Given the description of an element on the screen output the (x, y) to click on. 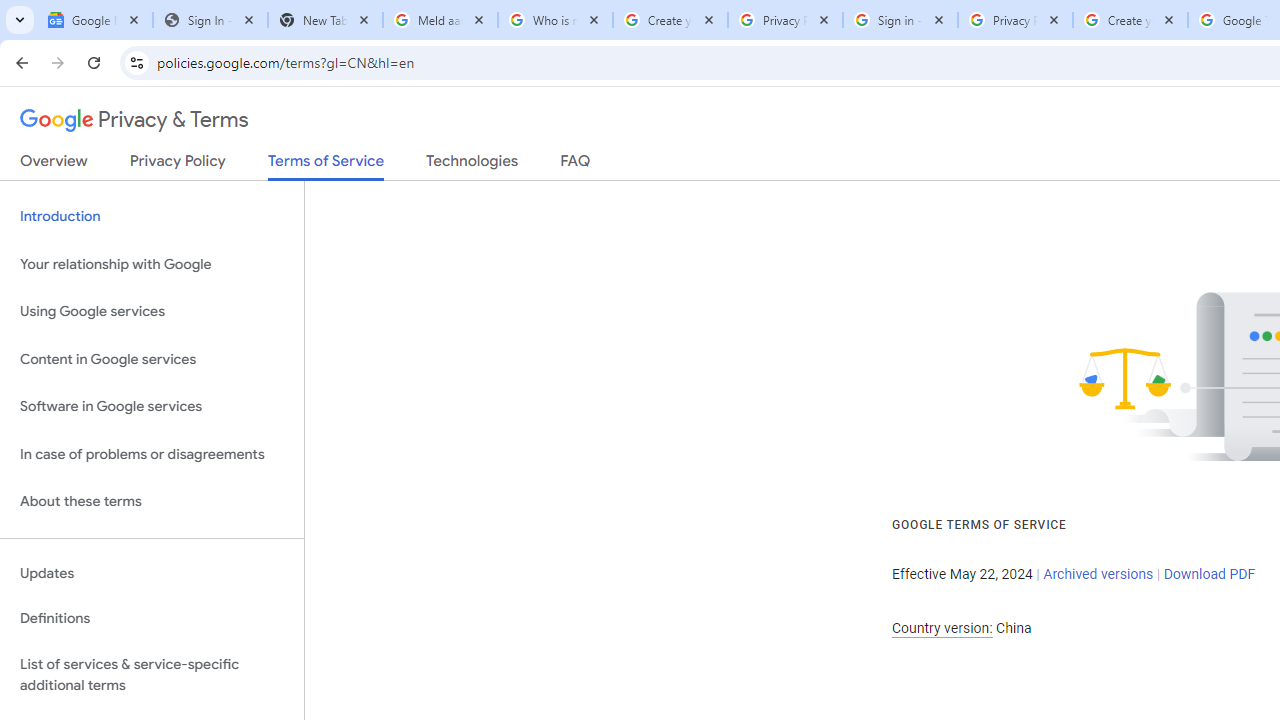
Content in Google services (152, 358)
Create your Google Account (670, 20)
Who is my administrator? - Google Account Help (555, 20)
Create your Google Account (1129, 20)
